Given the description of an element on the screen output the (x, y) to click on. 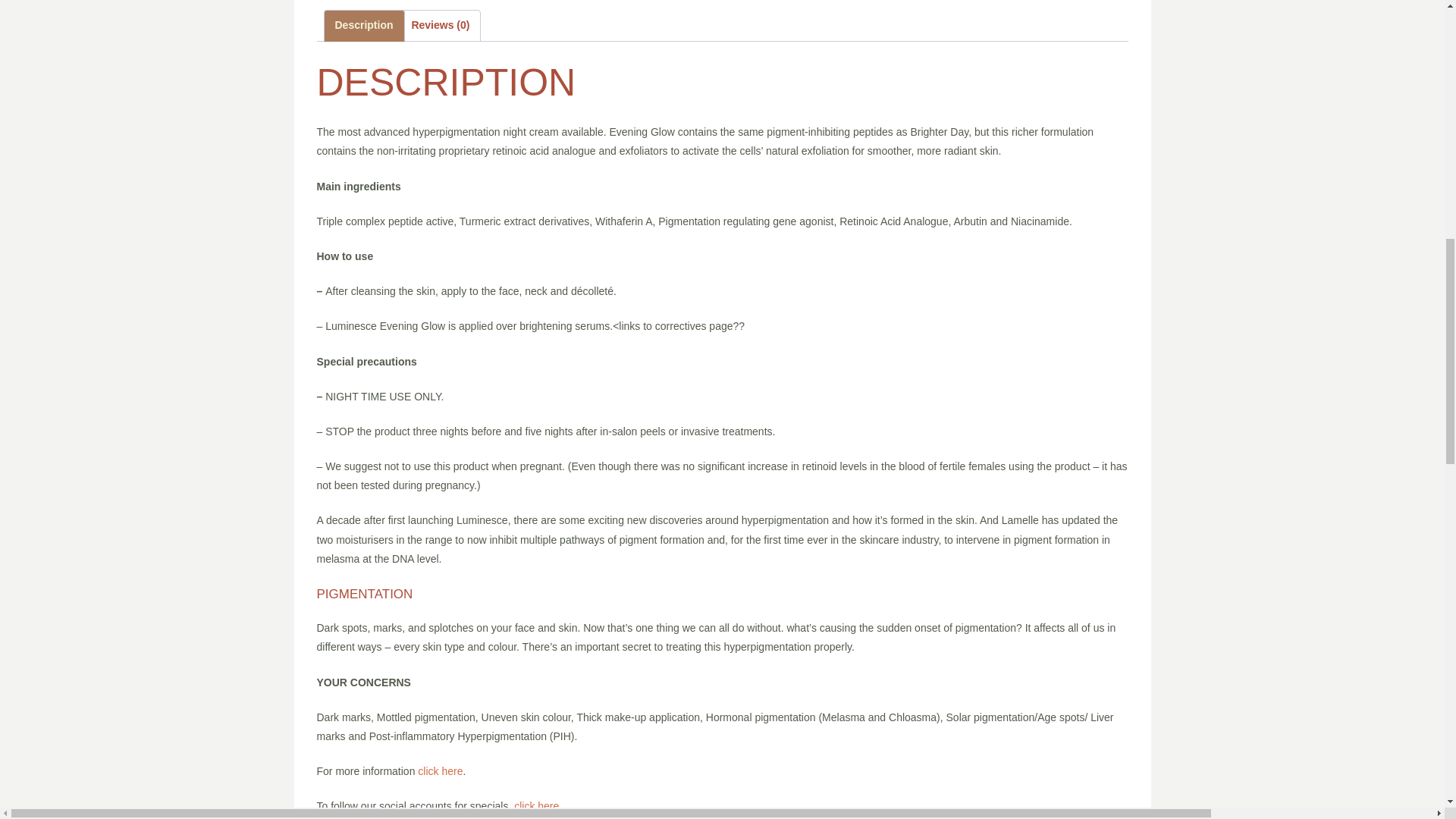
click here. (537, 806)
Description (363, 25)
click here (440, 770)
